Given the description of an element on the screen output the (x, y) to click on. 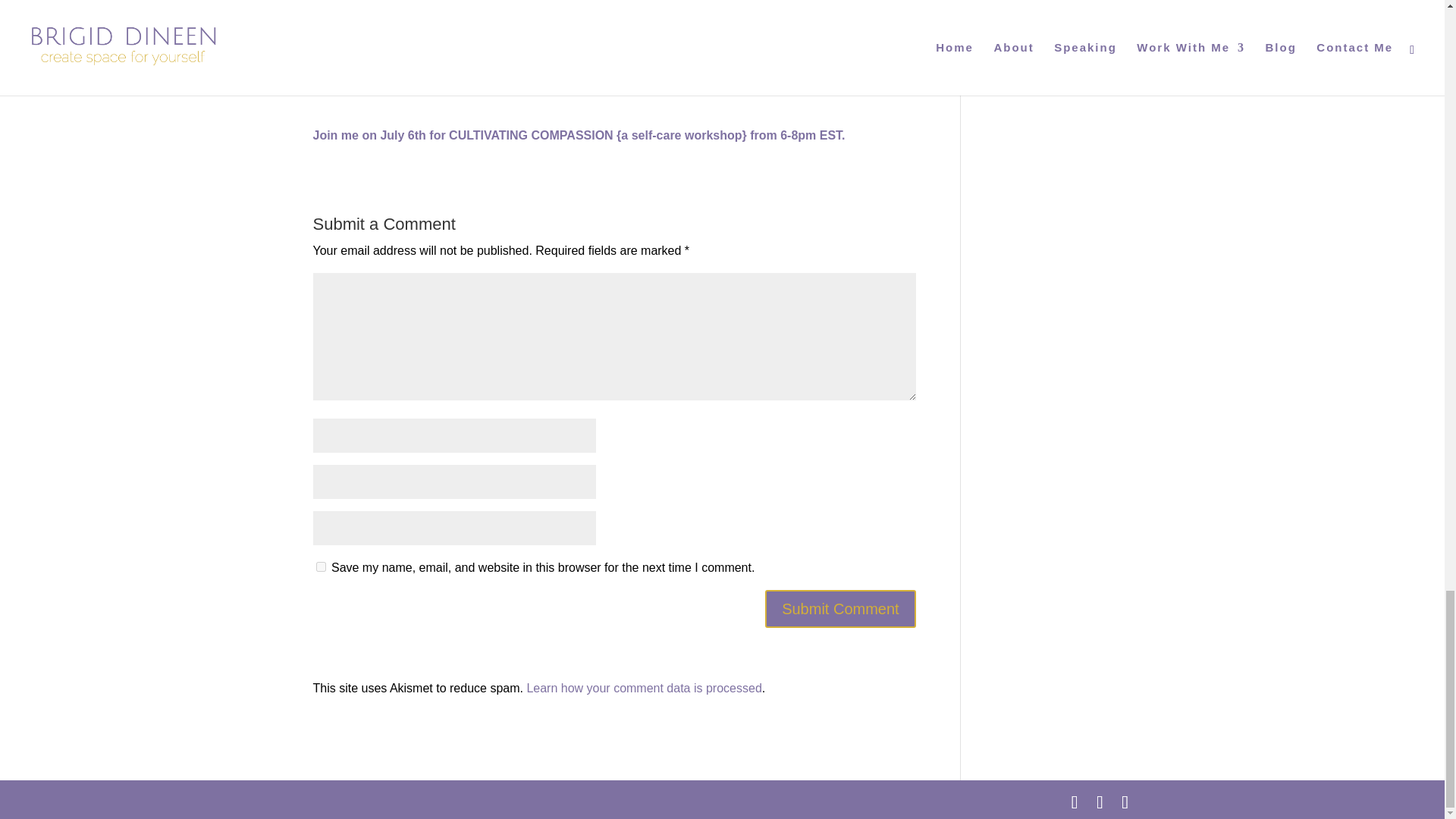
Submit Comment (840, 608)
Learn how your comment data is processed (643, 687)
yes (319, 566)
Submit Comment (840, 608)
